Given the description of an element on the screen output the (x, y) to click on. 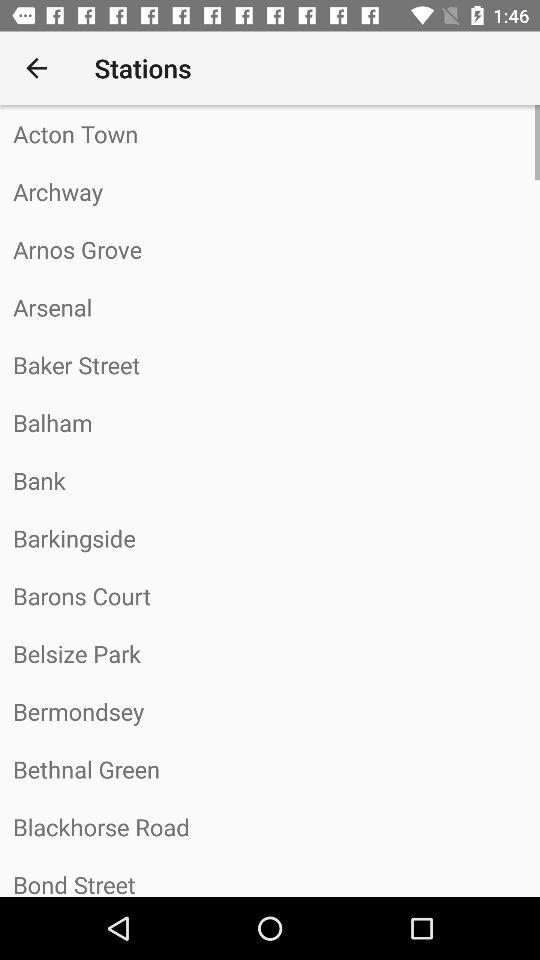
swipe until the arnos grove (270, 249)
